Given the description of an element on the screen output the (x, y) to click on. 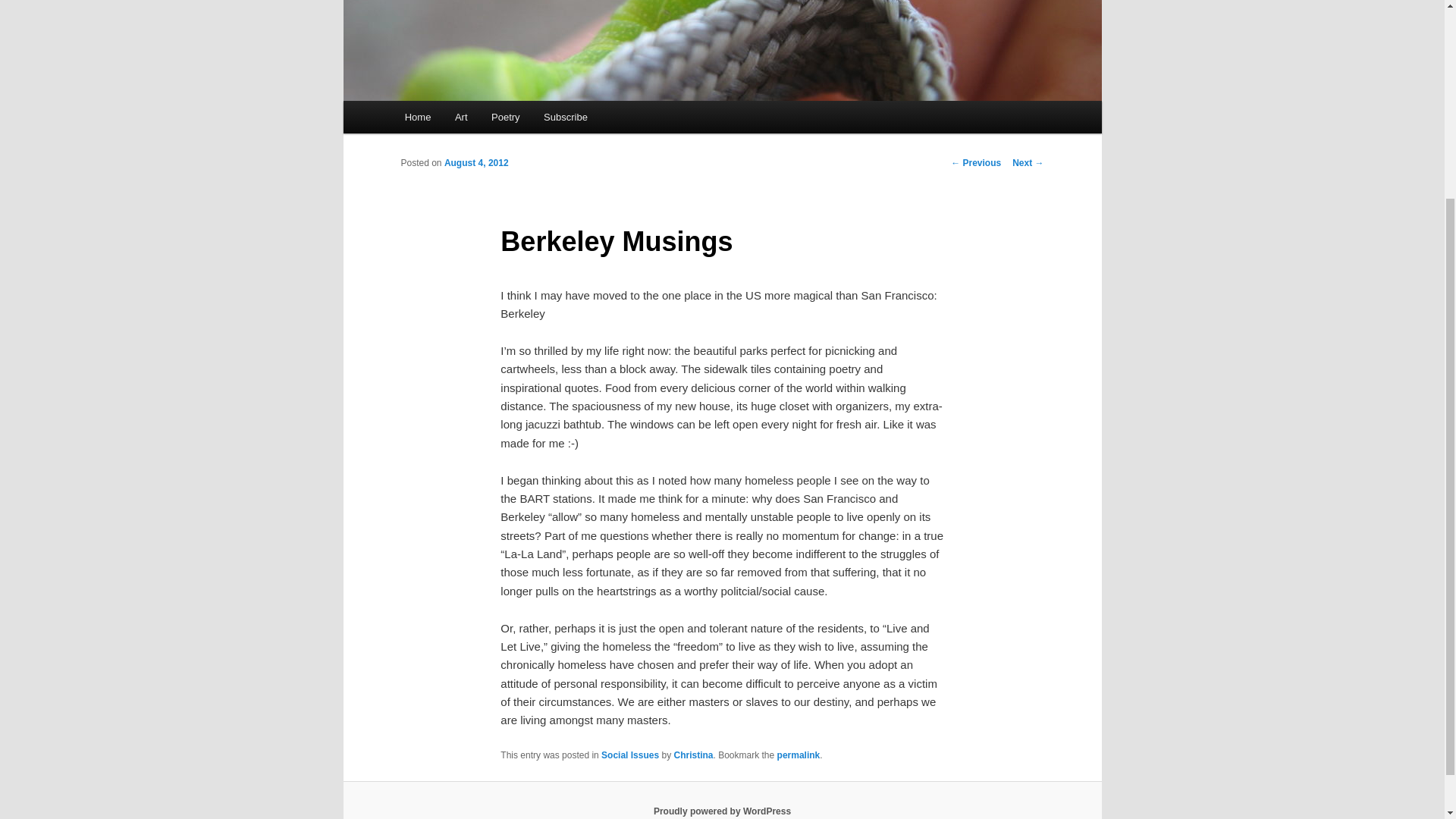
Home (417, 116)
Permalink to Berkeley Musings (799, 755)
August 4, 2012 (476, 163)
Poetry (505, 116)
Christina (692, 755)
permalink (799, 755)
12:32 pm (476, 163)
Subscribe (564, 116)
Social Issues (630, 755)
Art (460, 116)
Proudly powered by WordPress (721, 810)
Semantic Personal Publishing Platform (721, 810)
